Given the description of an element on the screen output the (x, y) to click on. 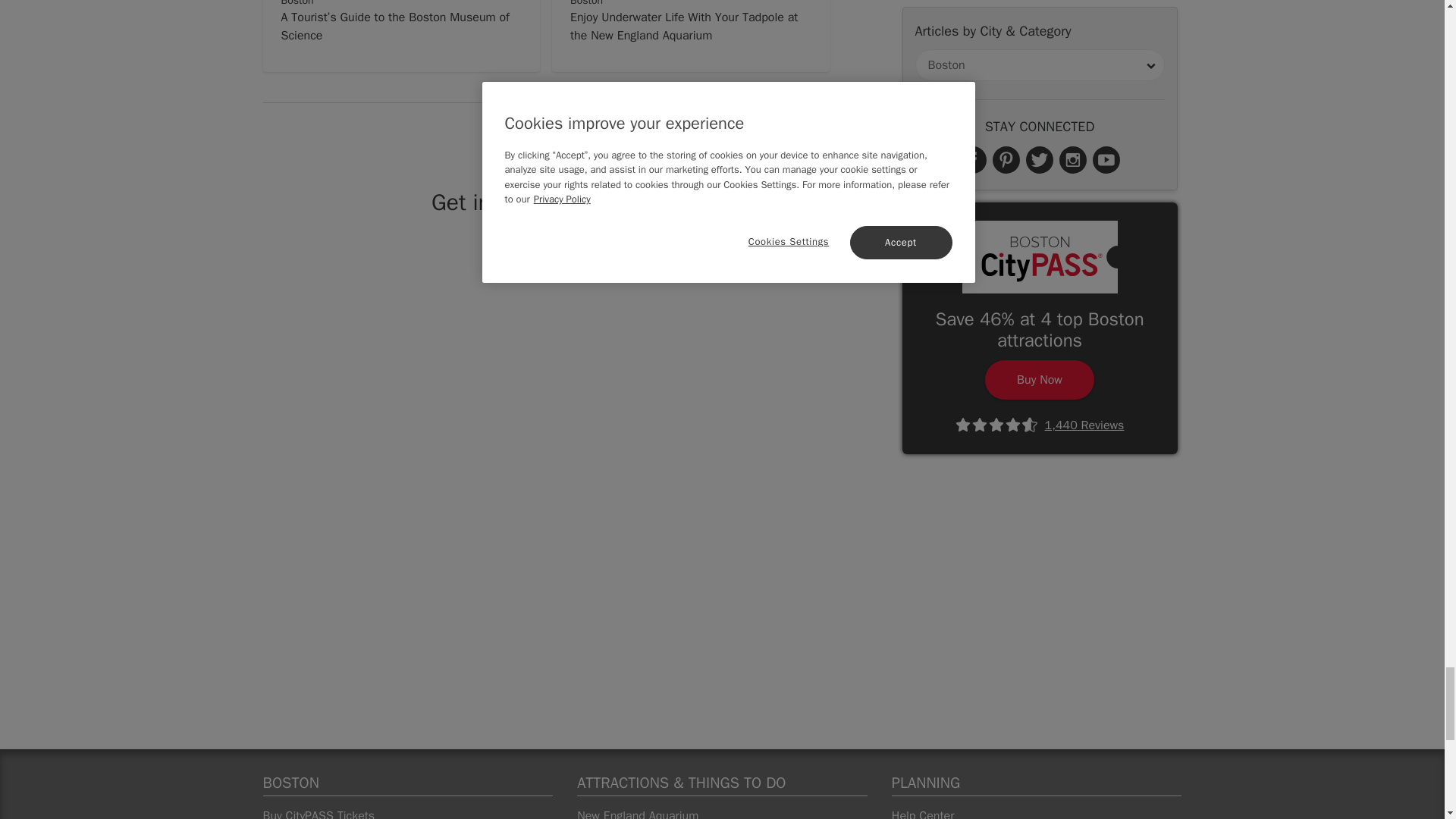
New England Aquarium (721, 813)
Buy CityPASS Tickets (407, 813)
